Given the description of an element on the screen output the (x, y) to click on. 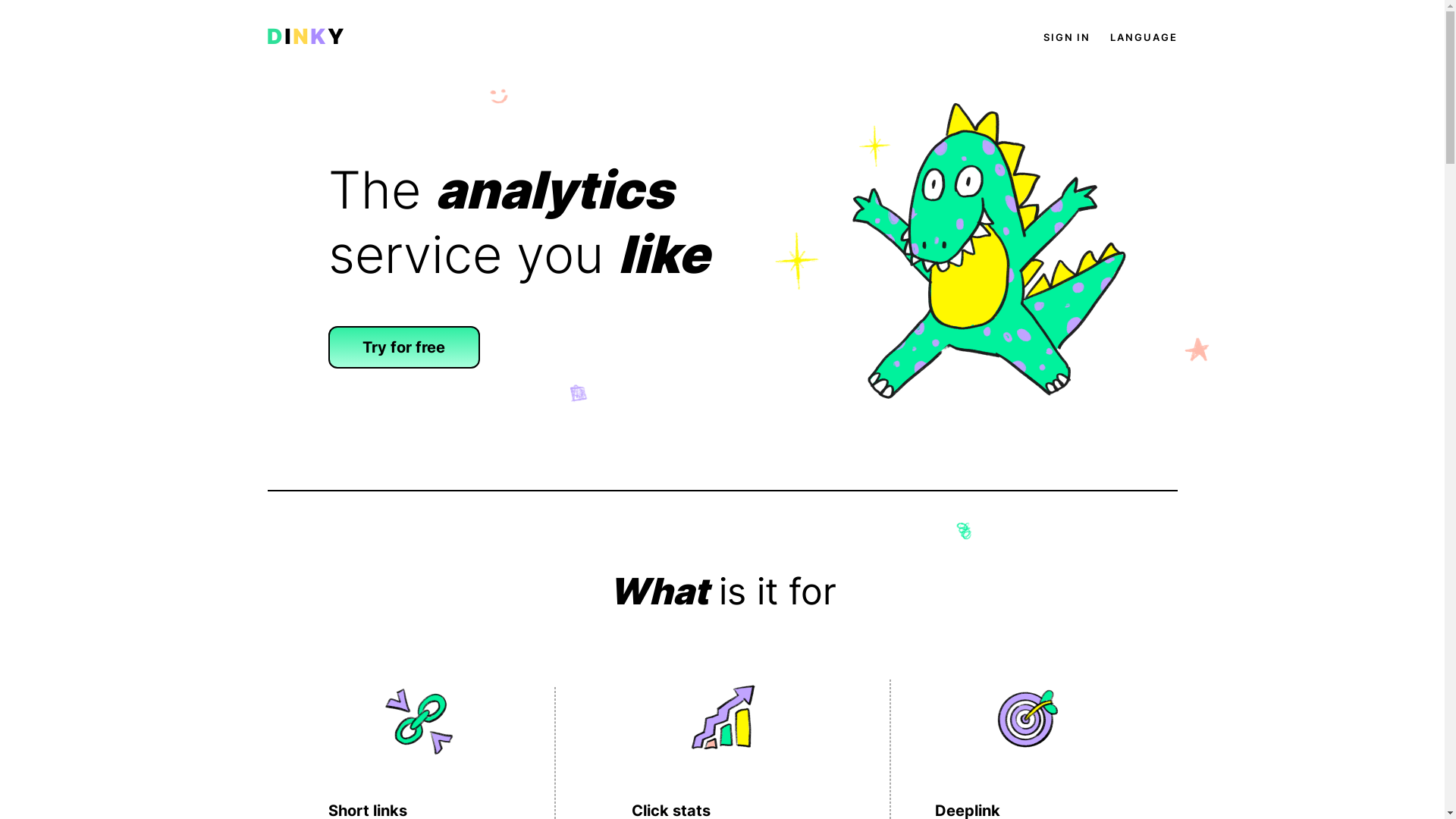
LANGUAGE Element type: text (1143, 37)
Try for free Element type: text (403, 347)
SIGN IN Element type: text (1066, 37)
